Given the description of an element on the screen output the (x, y) to click on. 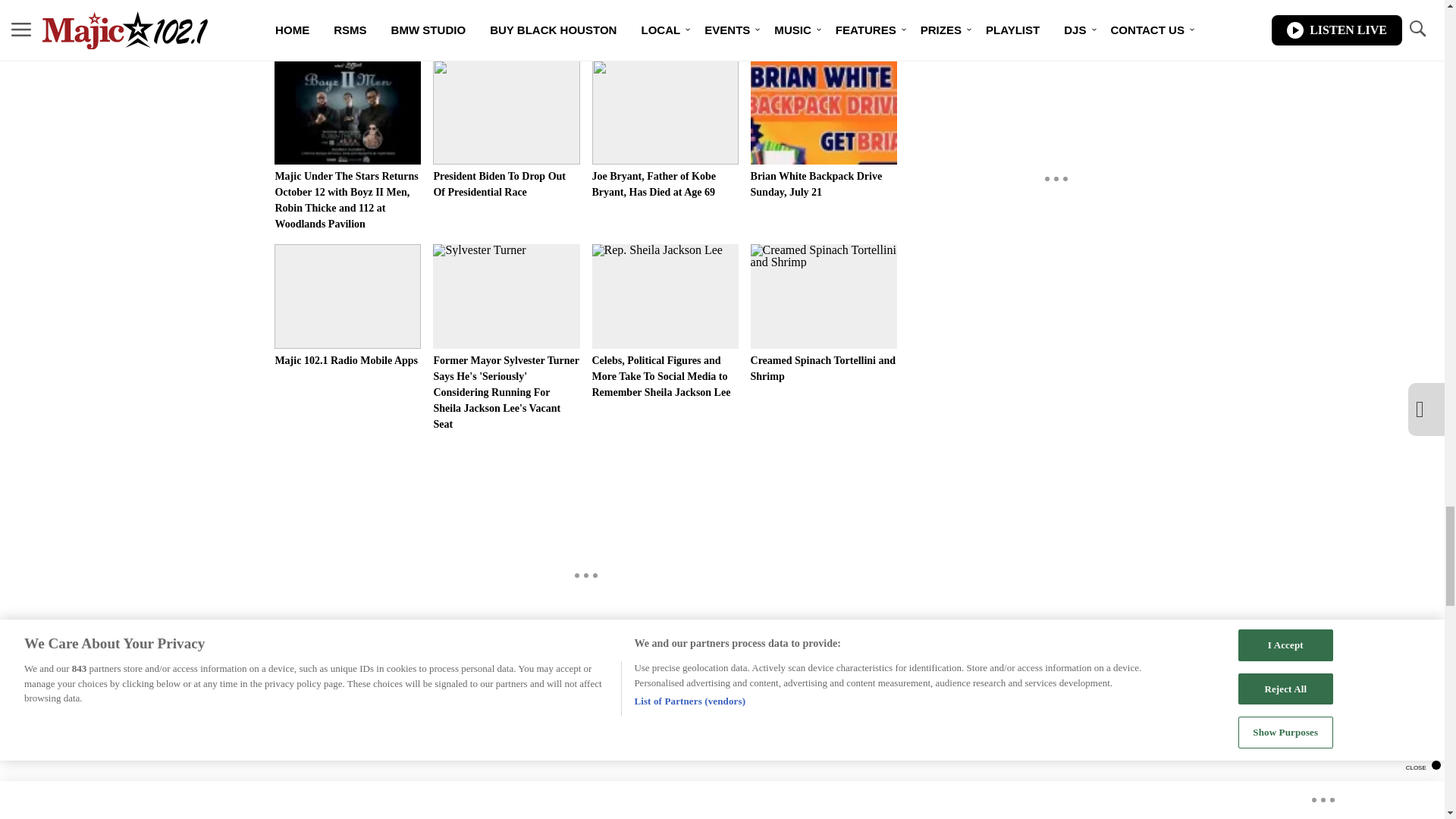
Vuukle Comments Widget (585, 769)
